Given the description of an element on the screen output the (x, y) to click on. 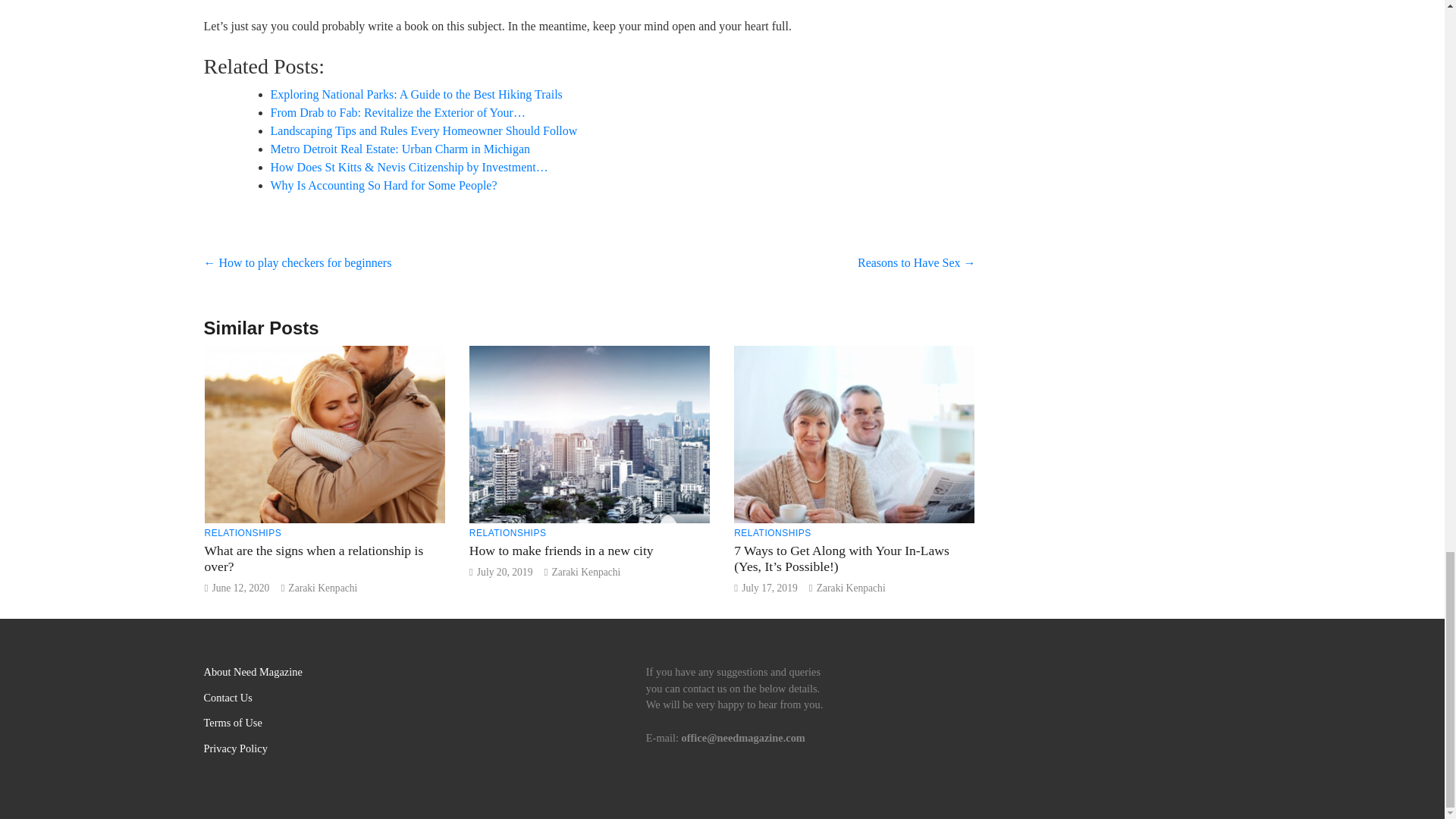
Metro Detroit Real Estate: Urban Charm in Michigan (399, 148)
Exploring National Parks: A Guide to the Best Hiking Trails (415, 93)
Landscaping Tips and Rules Every Homeowner Should Follow (422, 130)
